Given the description of an element on the screen output the (x, y) to click on. 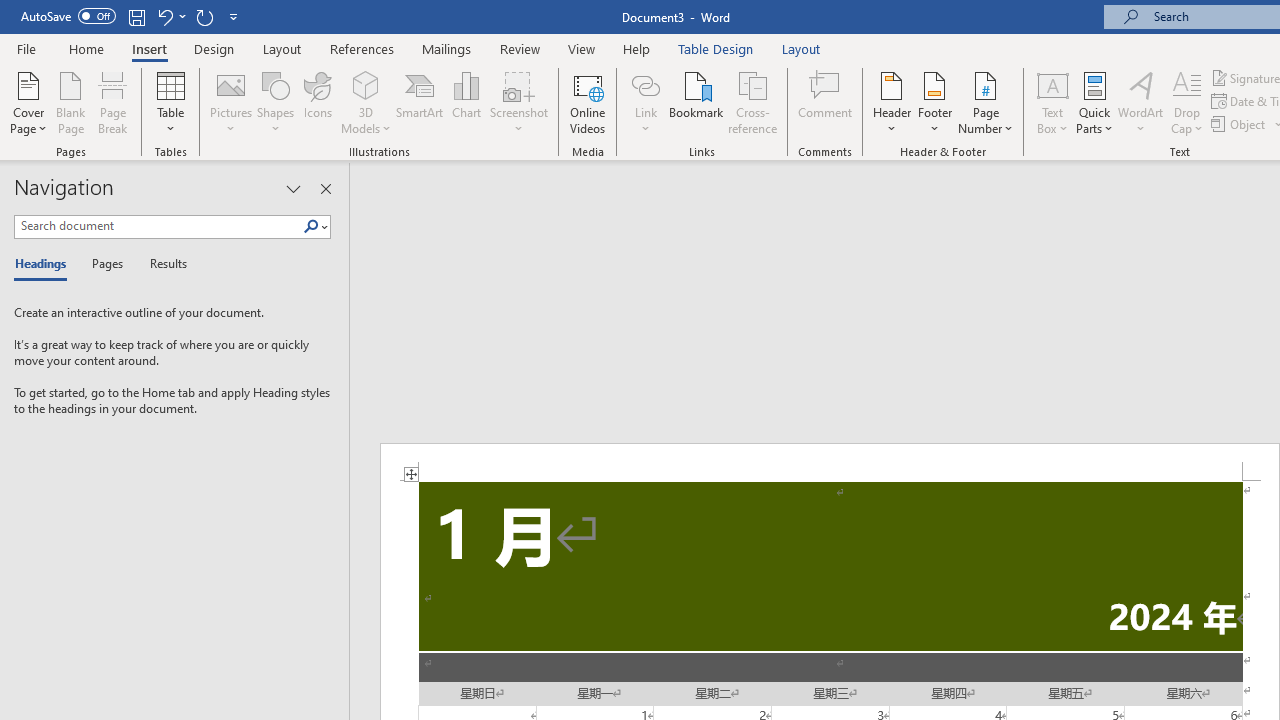
Icons (317, 102)
Home (86, 48)
References (362, 48)
Comment (825, 102)
Page Number (986, 102)
Drop Cap (1187, 102)
Online Videos... (588, 102)
3D Models (366, 102)
Quick Access Toolbar (131, 16)
Insert (149, 48)
Link (645, 84)
Customize Quick Access Toolbar (234, 15)
Blank Page (70, 102)
Shapes (275, 102)
Class: NetUIImage (311, 226)
